Given the description of an element on the screen output the (x, y) to click on. 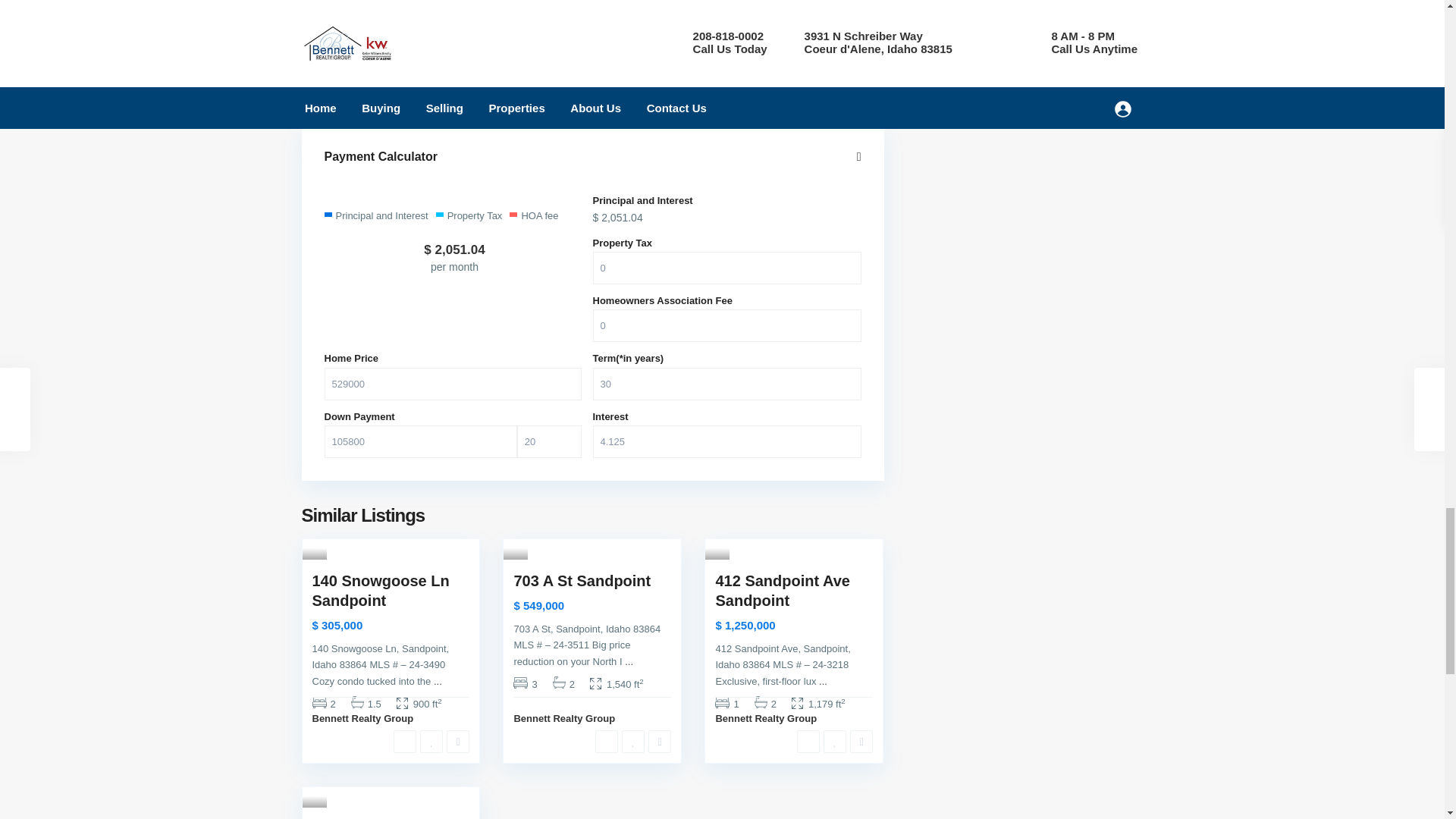
105800 (420, 441)
20 (548, 441)
4.125 (726, 441)
0 (726, 267)
30 (726, 383)
529000 (452, 383)
0 (726, 325)
